Given the description of an element on the screen output the (x, y) to click on. 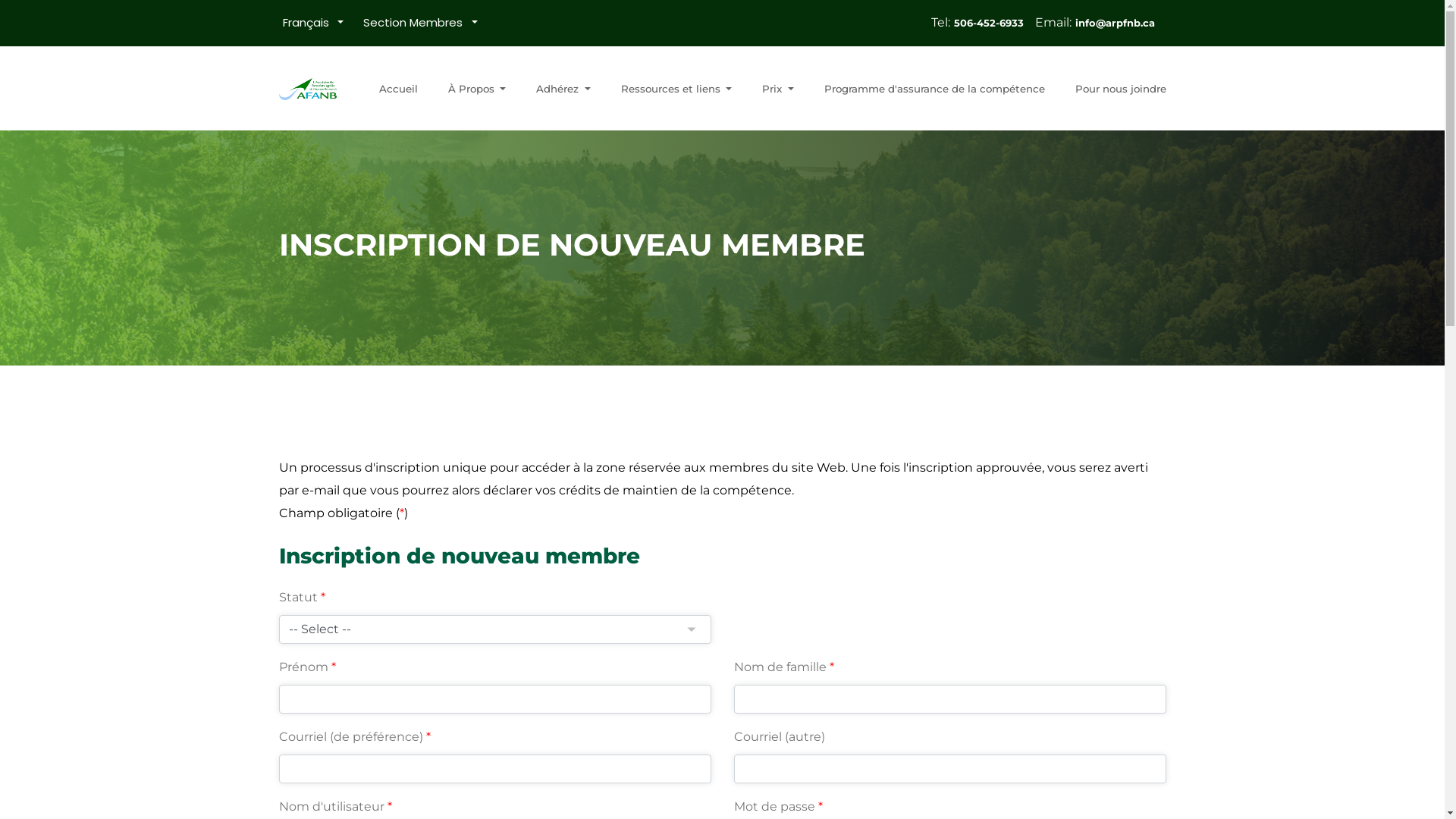
Section Membres   Element type: text (420, 21)
506-452-6933 Element type: text (991, 17)
Accueil Element type: text (398, 88)
Ressources et liens Element type: text (676, 88)
info@arpfnb.ca Element type: text (1117, 17)
Pour nous joindre Element type: text (1120, 88)
Prix Element type: text (777, 88)
